Given the description of an element on the screen output the (x, y) to click on. 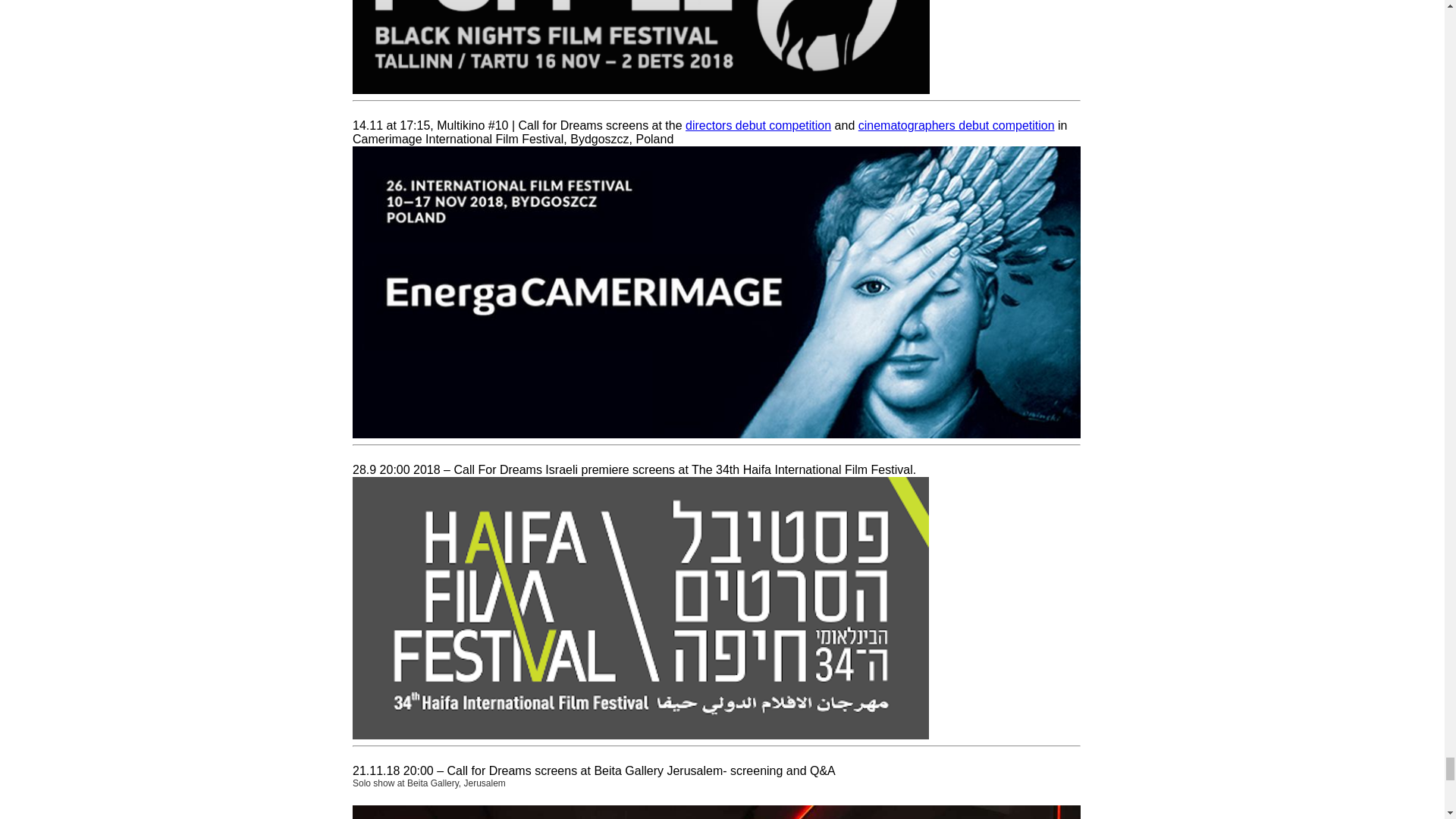
Page 1 (716, 47)
